Given the description of an element on the screen output the (x, y) to click on. 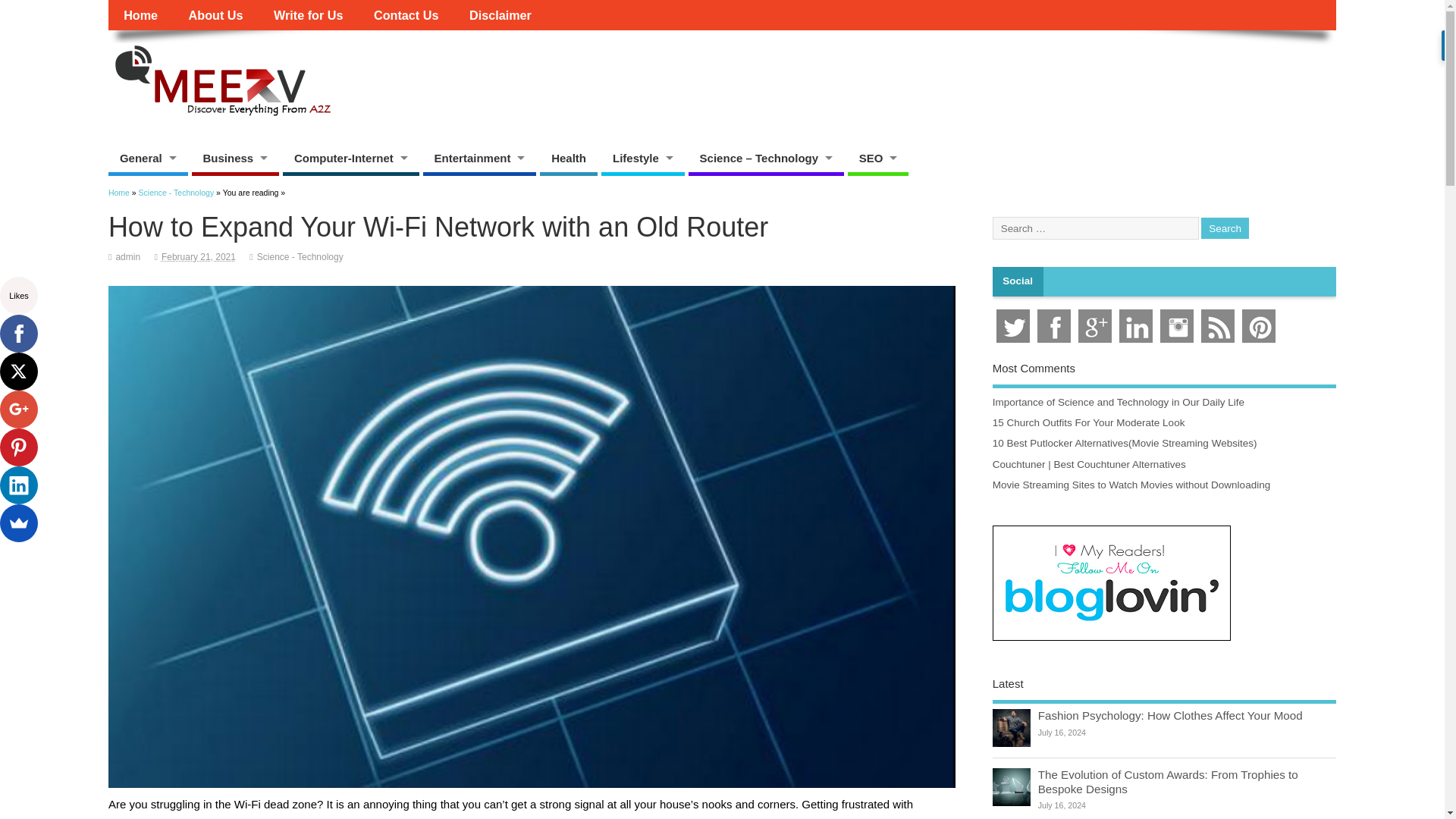
Write for Us (308, 15)
Health (568, 158)
Disclaimer (500, 15)
Lifestyle (642, 158)
Computer-Internet (350, 158)
About Us (215, 15)
Business (234, 158)
Home (140, 15)
Posts by admin (127, 256)
Contact Us (406, 15)
Entertainment (480, 158)
Search (1225, 228)
General (147, 158)
Search (1225, 228)
